Given the description of an element on the screen output the (x, y) to click on. 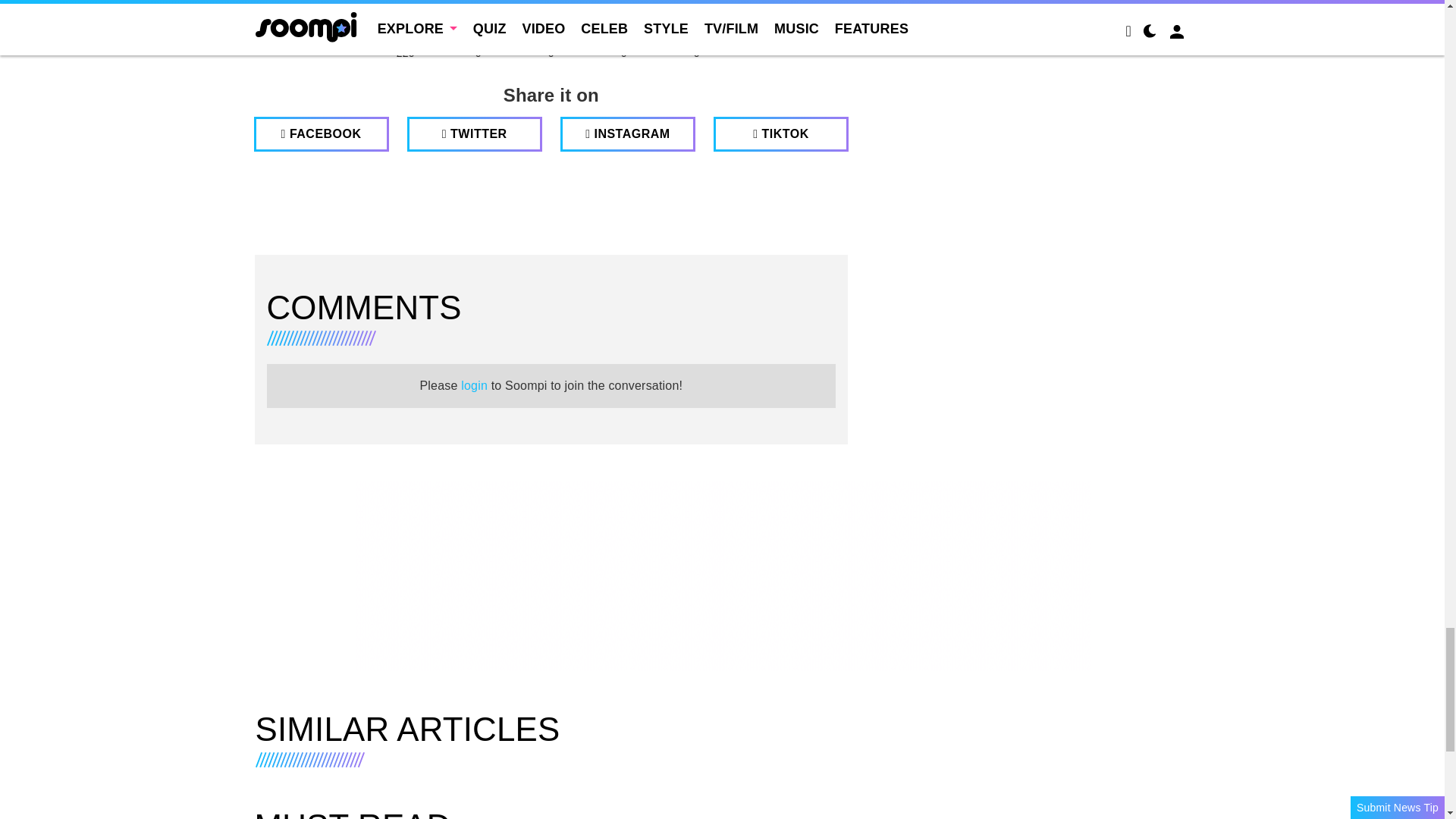
Heart (405, 18)
Fire (550, 18)
Crying (623, 18)
OMG (696, 18)
LOL (478, 18)
